Given the description of an element on the screen output the (x, y) to click on. 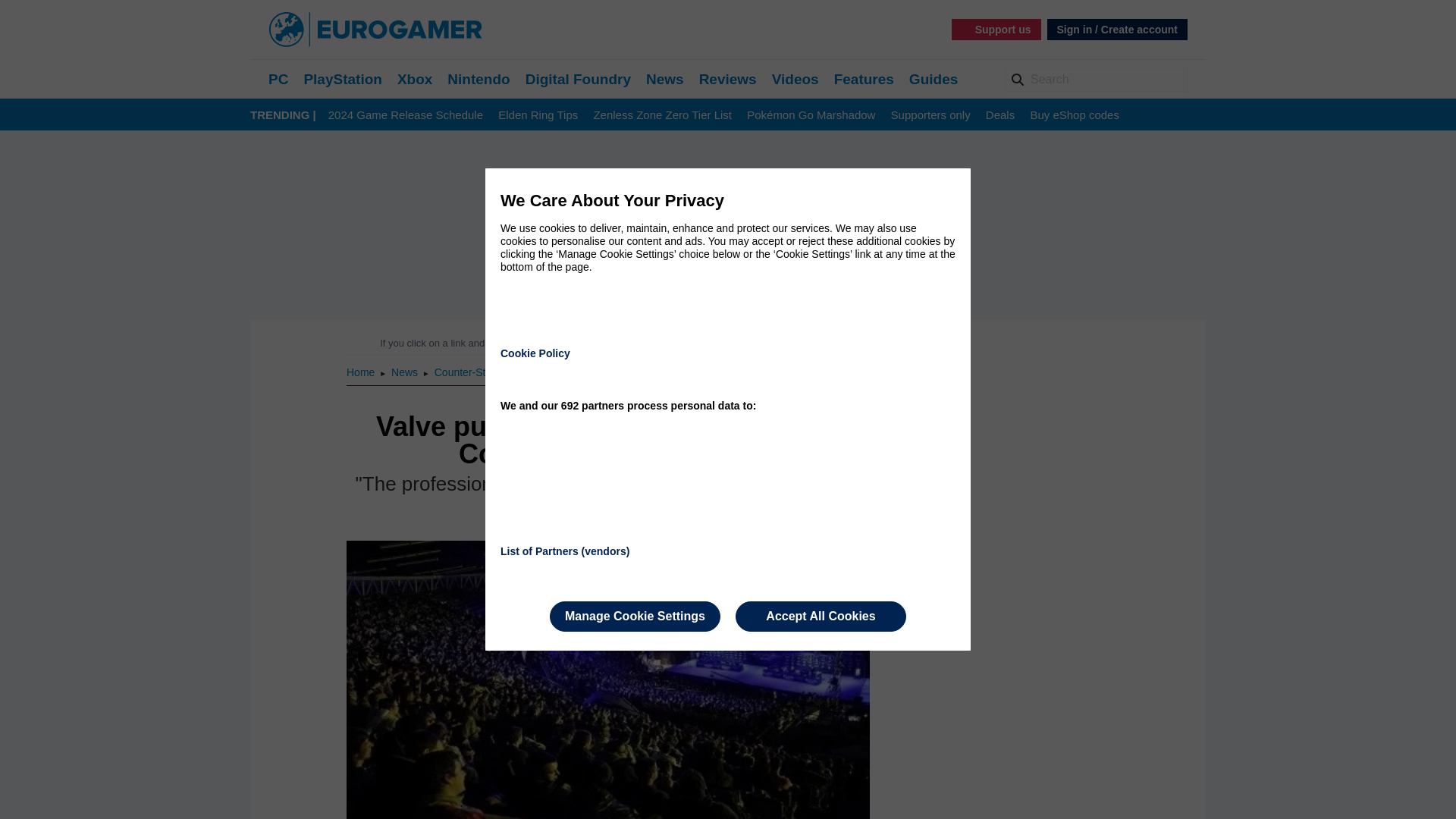
Elden Ring Tips (537, 114)
2024 Game Release Schedule (406, 114)
PlayStation (341, 78)
Guides (933, 78)
News (405, 372)
2024 Game Release Schedule (406, 114)
PC (277, 78)
Support us (996, 29)
Elden Ring Tips (537, 114)
Zenless Zone Zero Tier List (662, 114)
Home (361, 372)
Videos (794, 78)
News (665, 78)
Xbox (414, 78)
Supporters only (931, 114)
